Given the description of an element on the screen output the (x, y) to click on. 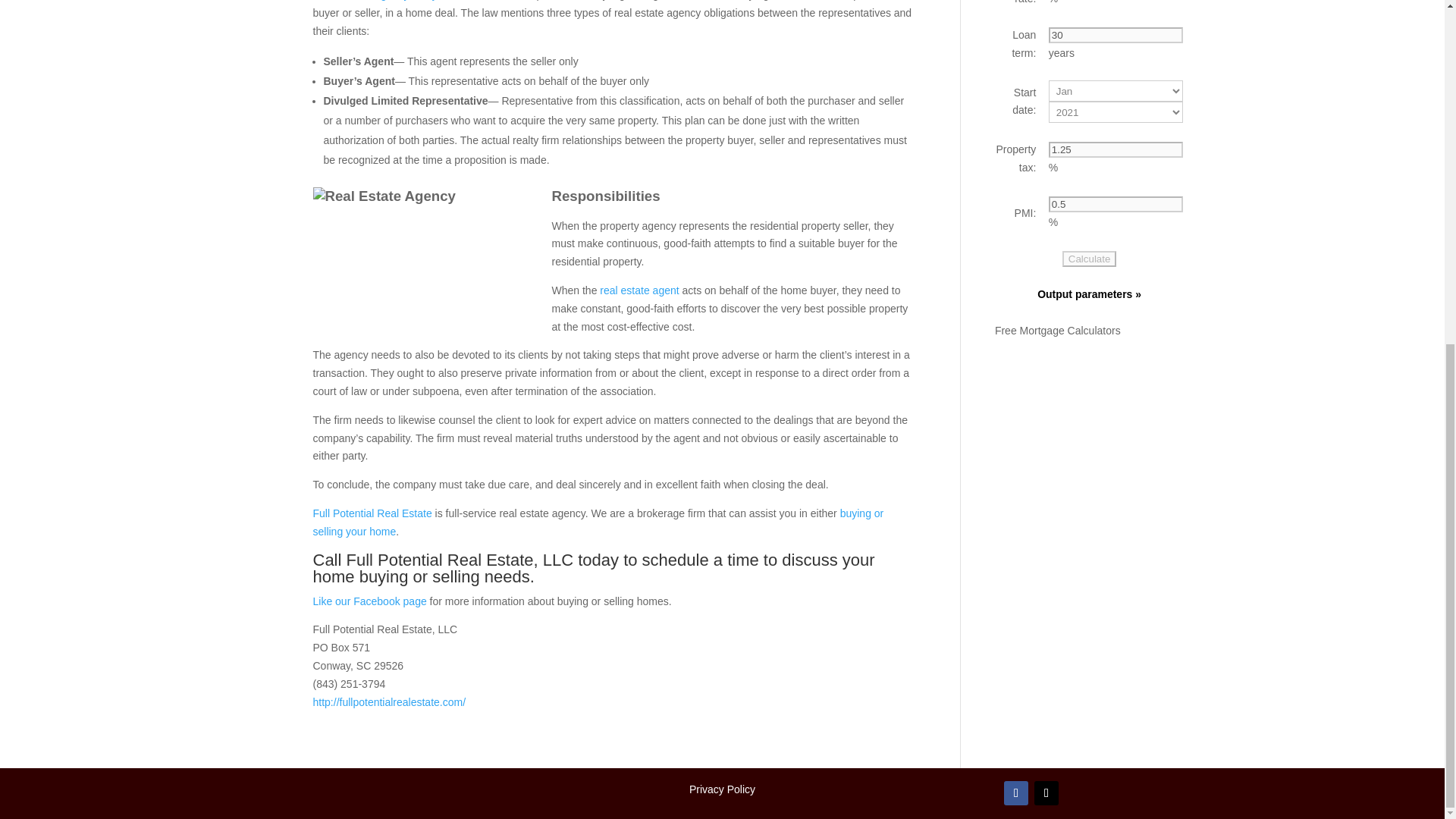
Calculate (1089, 258)
real estate agency - Full Potential Real Estate (426, 263)
30 (1115, 35)
1.25 (1115, 149)
0.5 (1115, 204)
Follow on X (1045, 793)
Follow on Facebook (1015, 793)
